Given the description of an element on the screen output the (x, y) to click on. 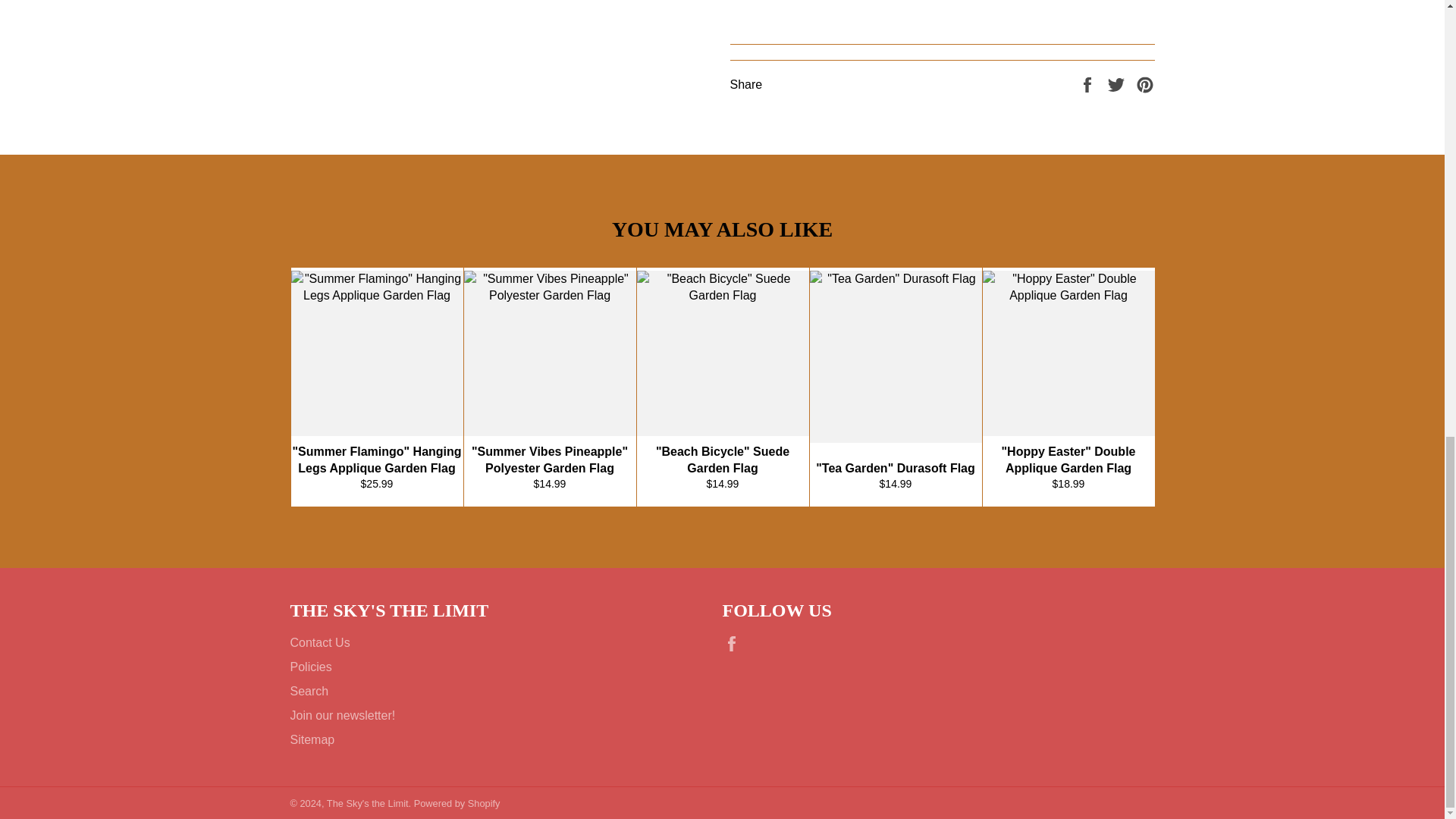
Tweet on Twitter (1117, 83)
The Sky's the Limit on Facebook (735, 643)
Share on Facebook (1088, 83)
Pin on Pinterest (1144, 83)
